Given the description of an element on the screen output the (x, y) to click on. 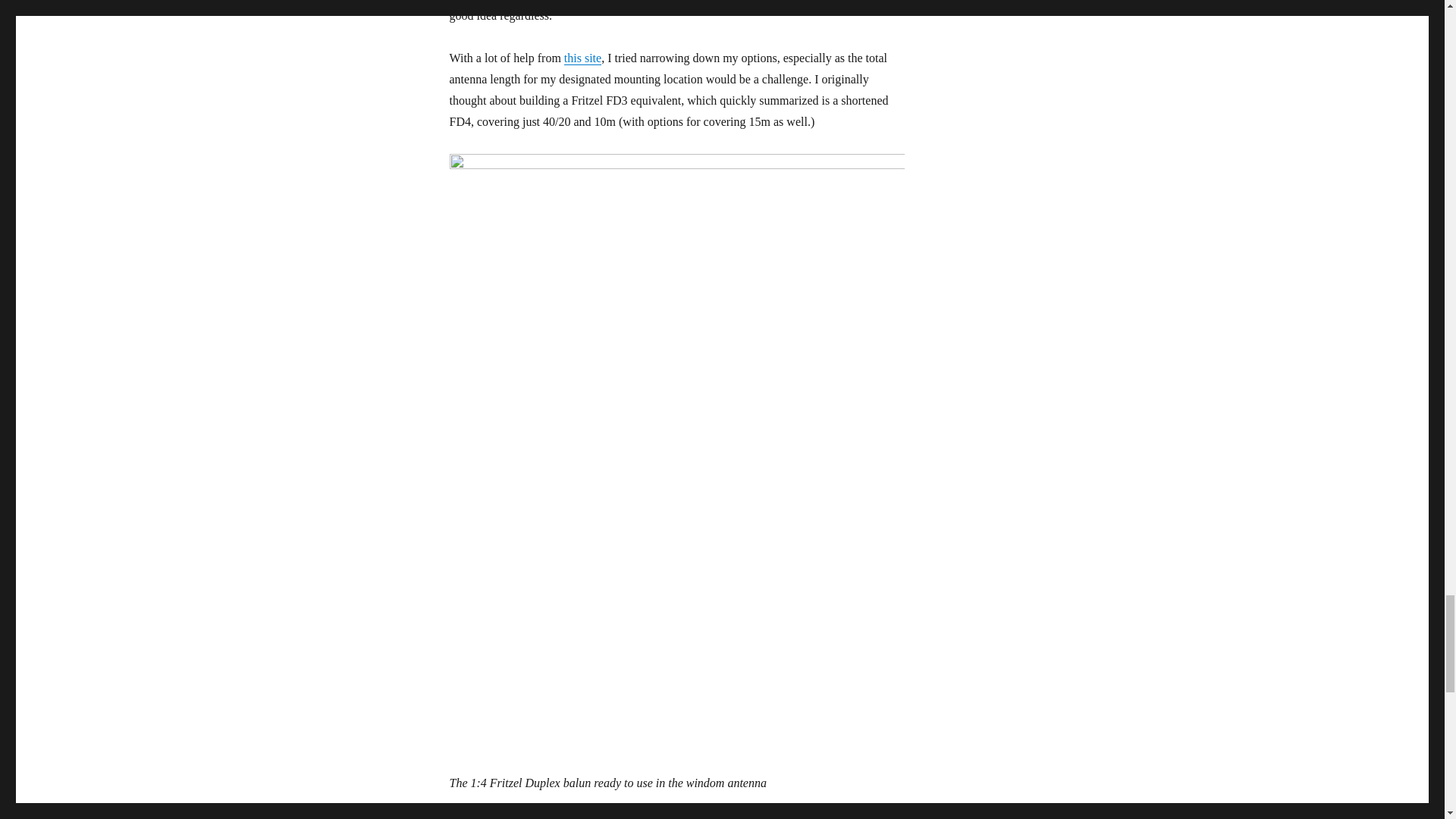
this site (582, 57)
